Given the description of an element on the screen output the (x, y) to click on. 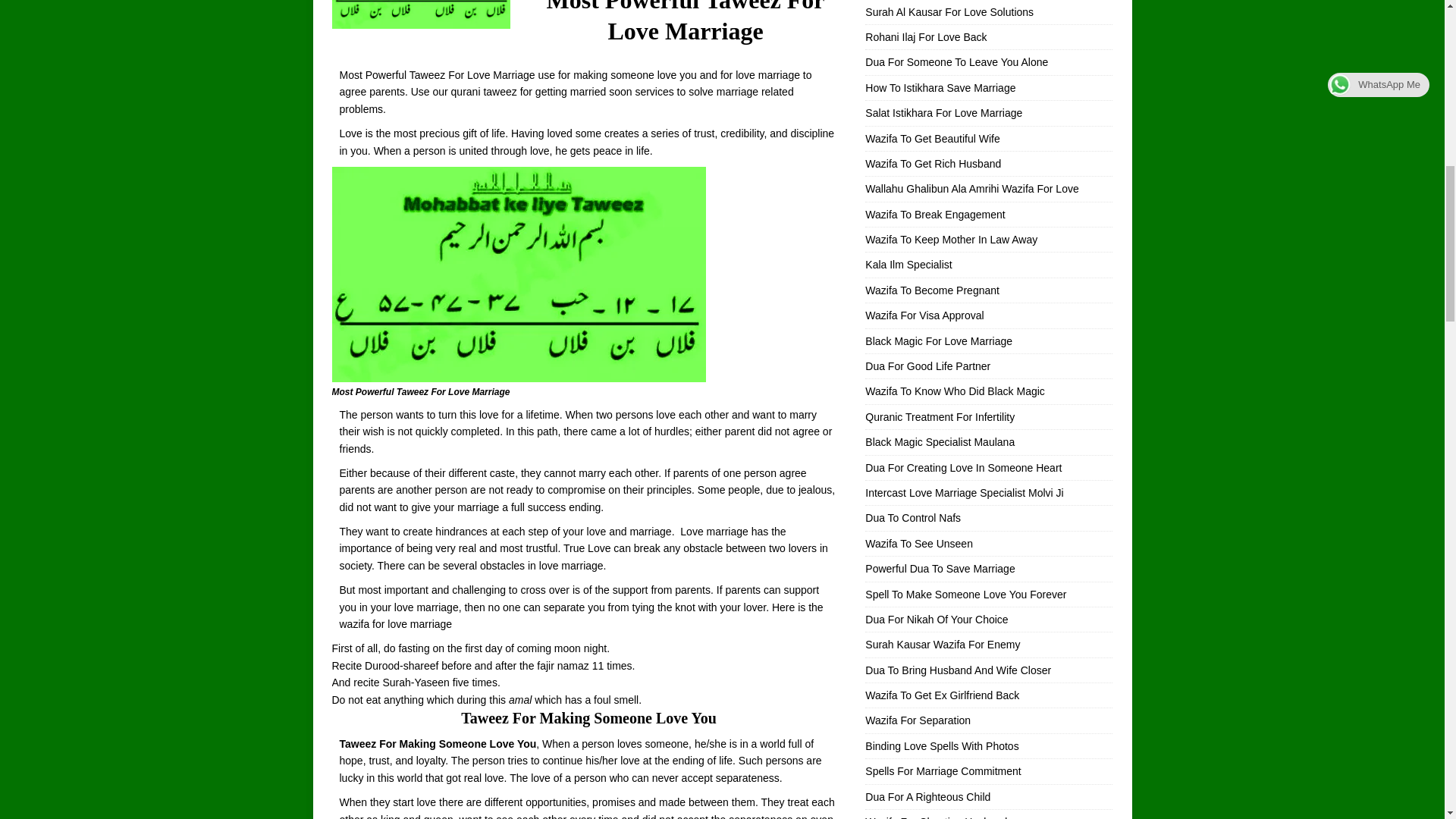
Dua For Someone To Leave You Alone (956, 61)
Most Powerful Taweez For Love Marriage (518, 274)
Rohani Ilaj For Love Back (925, 37)
Taweez For Making Someone Love You (438, 743)
Surah Al Kausar For Love Solutions (948, 11)
